Given the description of an element on the screen output the (x, y) to click on. 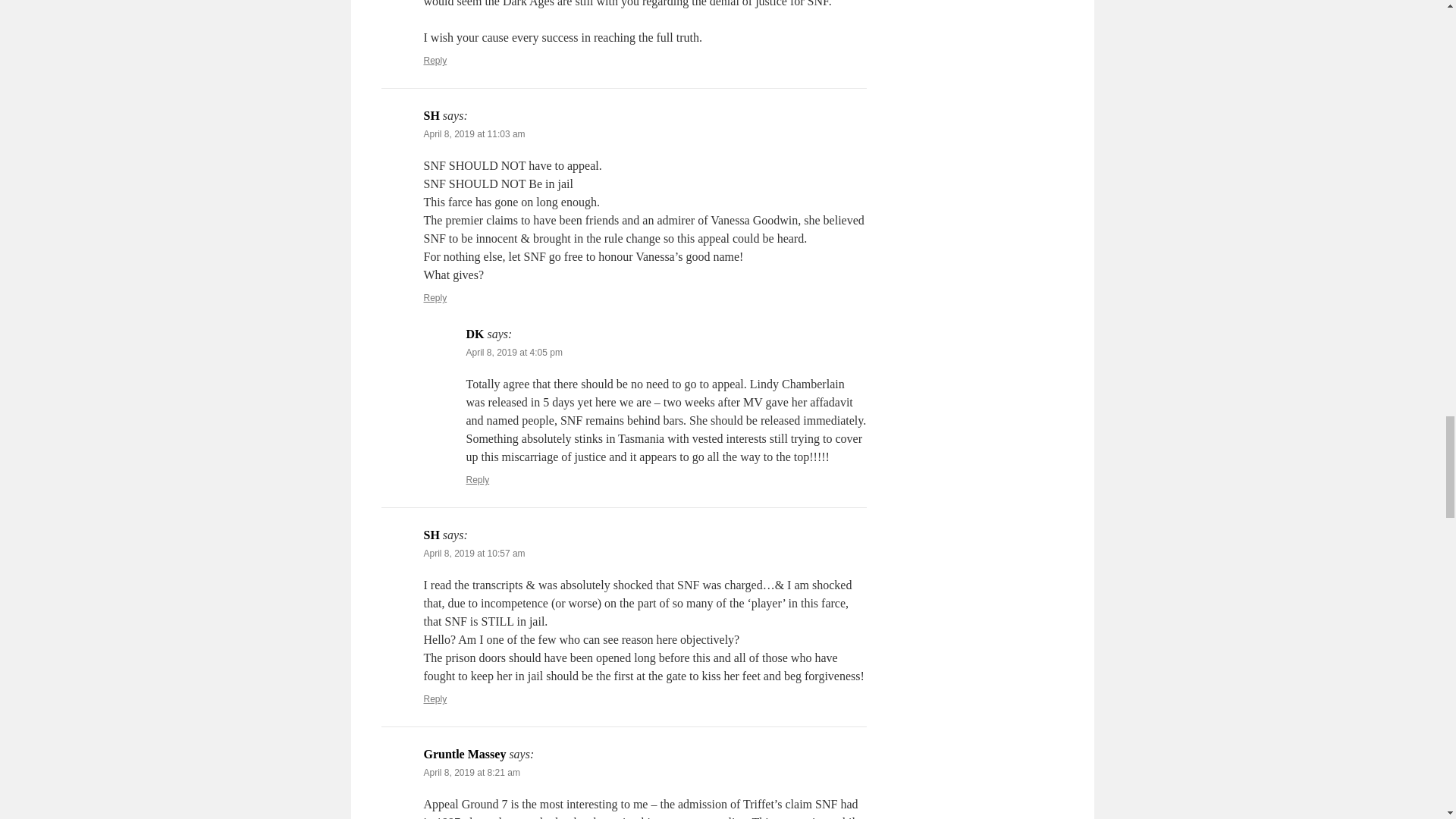
April 8, 2019 at 8:21 am (471, 772)
Reply (434, 60)
April 8, 2019 at 4:05 pm (513, 352)
April 8, 2019 at 10:57 am (473, 552)
April 8, 2019 at 11:03 am (473, 133)
Reply (477, 480)
Reply (434, 698)
Reply (434, 297)
